Given the description of an element on the screen output the (x, y) to click on. 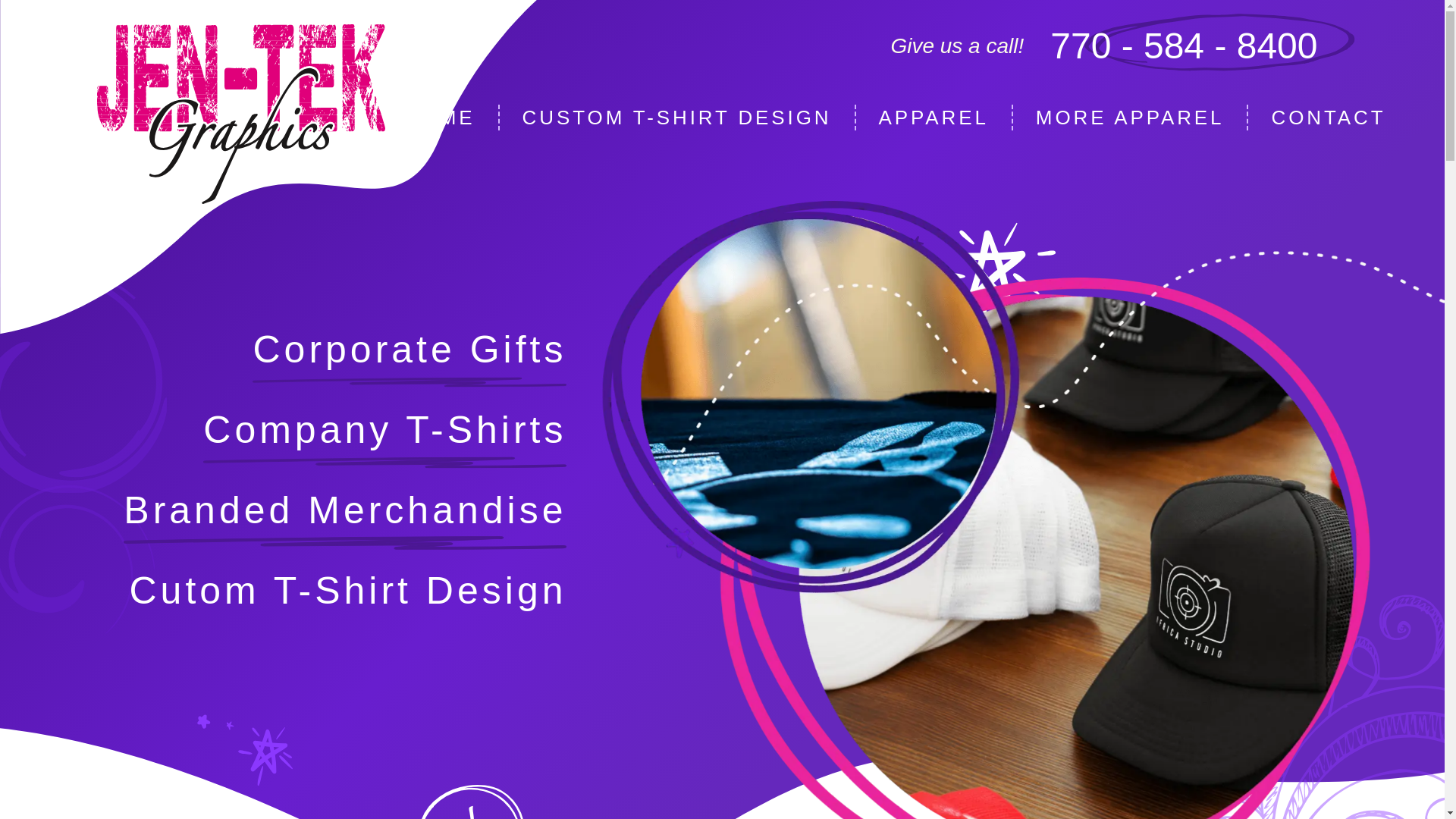
770 - 584 - 8400 (1183, 45)
MORE APPAREL (1129, 117)
APPAREL (933, 117)
CUSTOM T-SHIRT DESIGN (676, 117)
HOME (440, 117)
CONTACT (1328, 117)
